Given the description of an element on the screen output the (x, y) to click on. 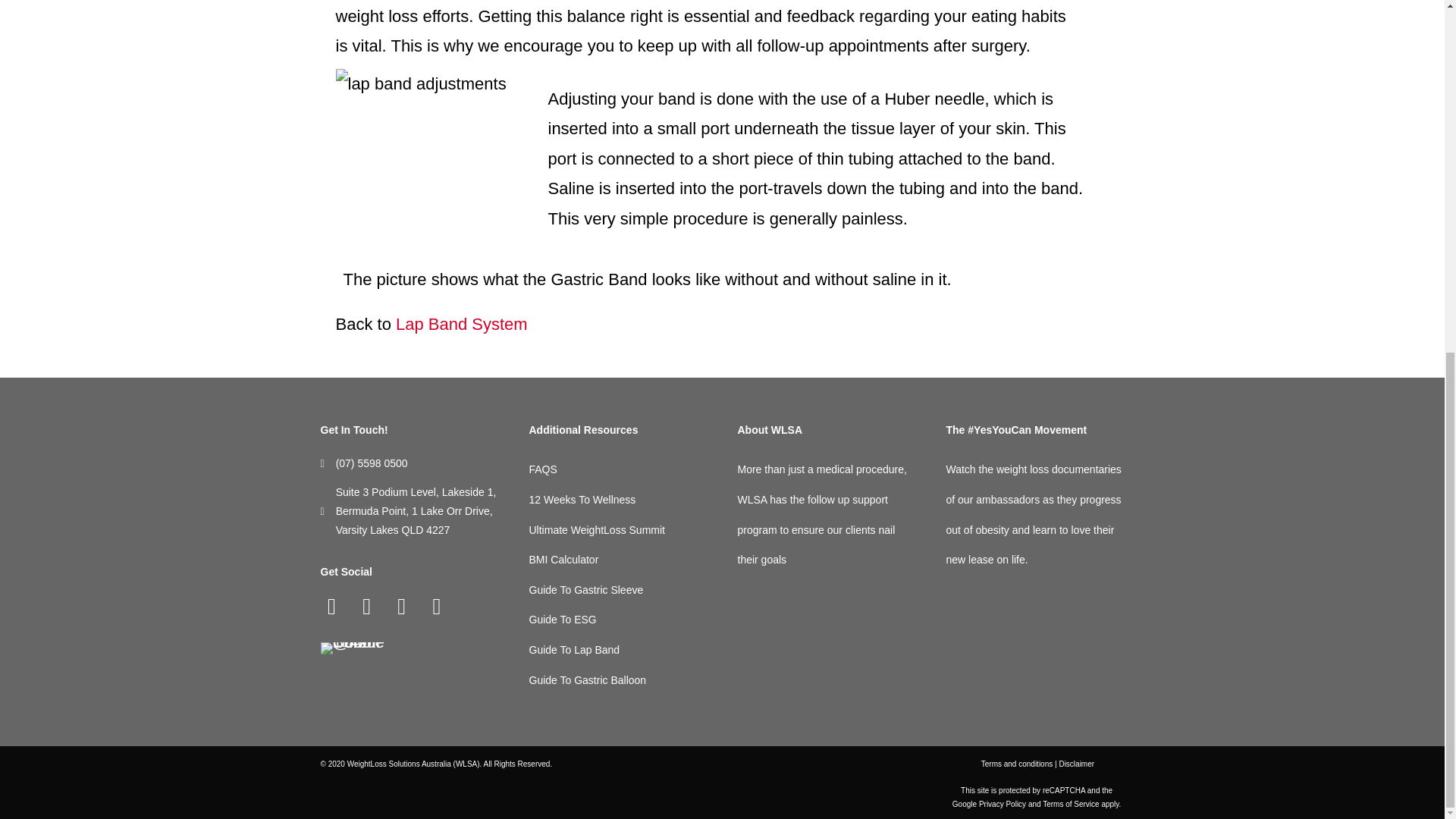
Facebook (331, 606)
12 Weeks To Wellness (582, 499)
FAQS (543, 469)
YouTube (436, 606)
Lap Band System (461, 323)
Twitter (401, 606)
Instagram (366, 606)
